Given the description of an element on the screen output the (x, y) to click on. 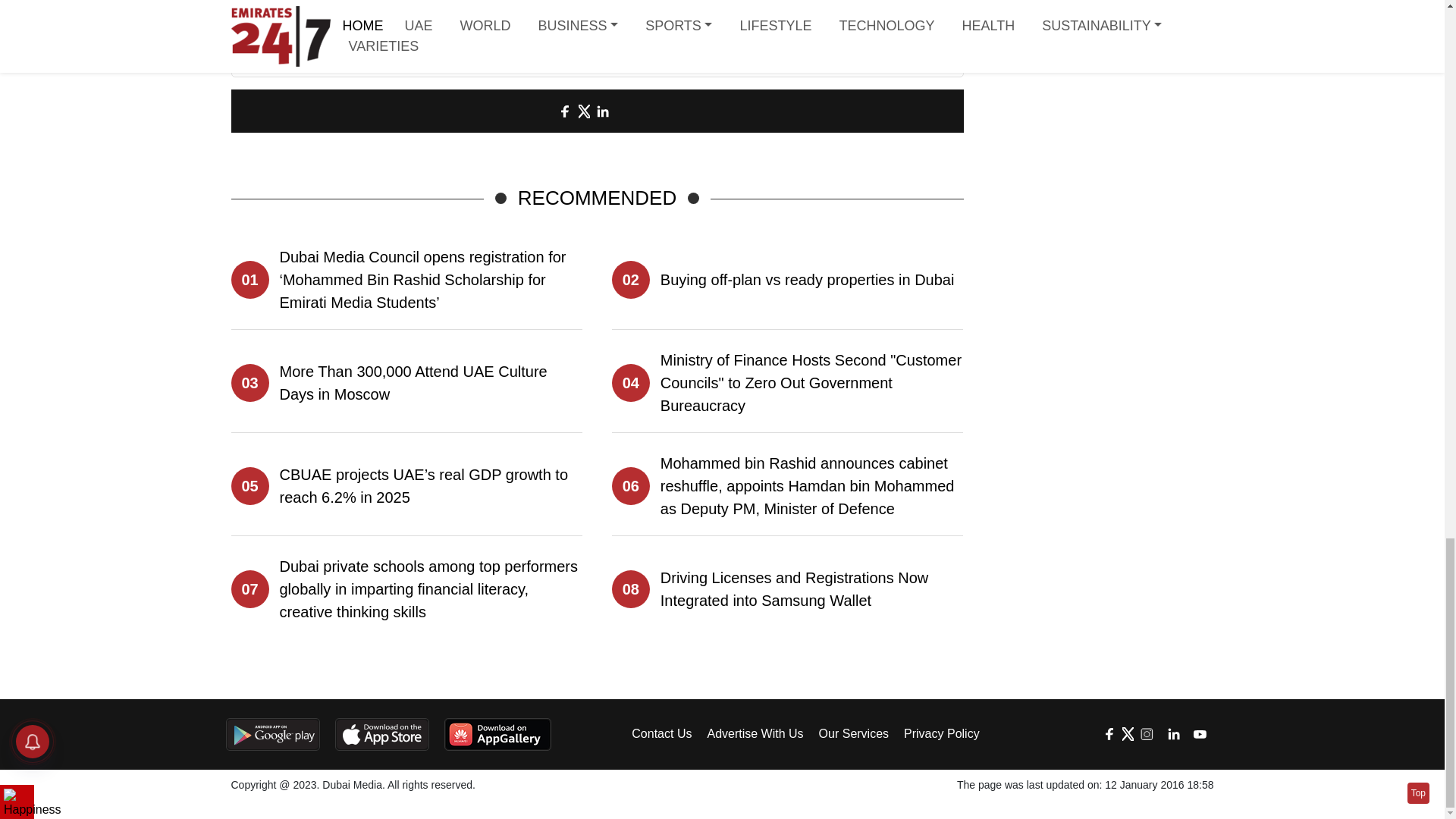
Google News. (703, 31)
